Given the description of an element on the screen output the (x, y) to click on. 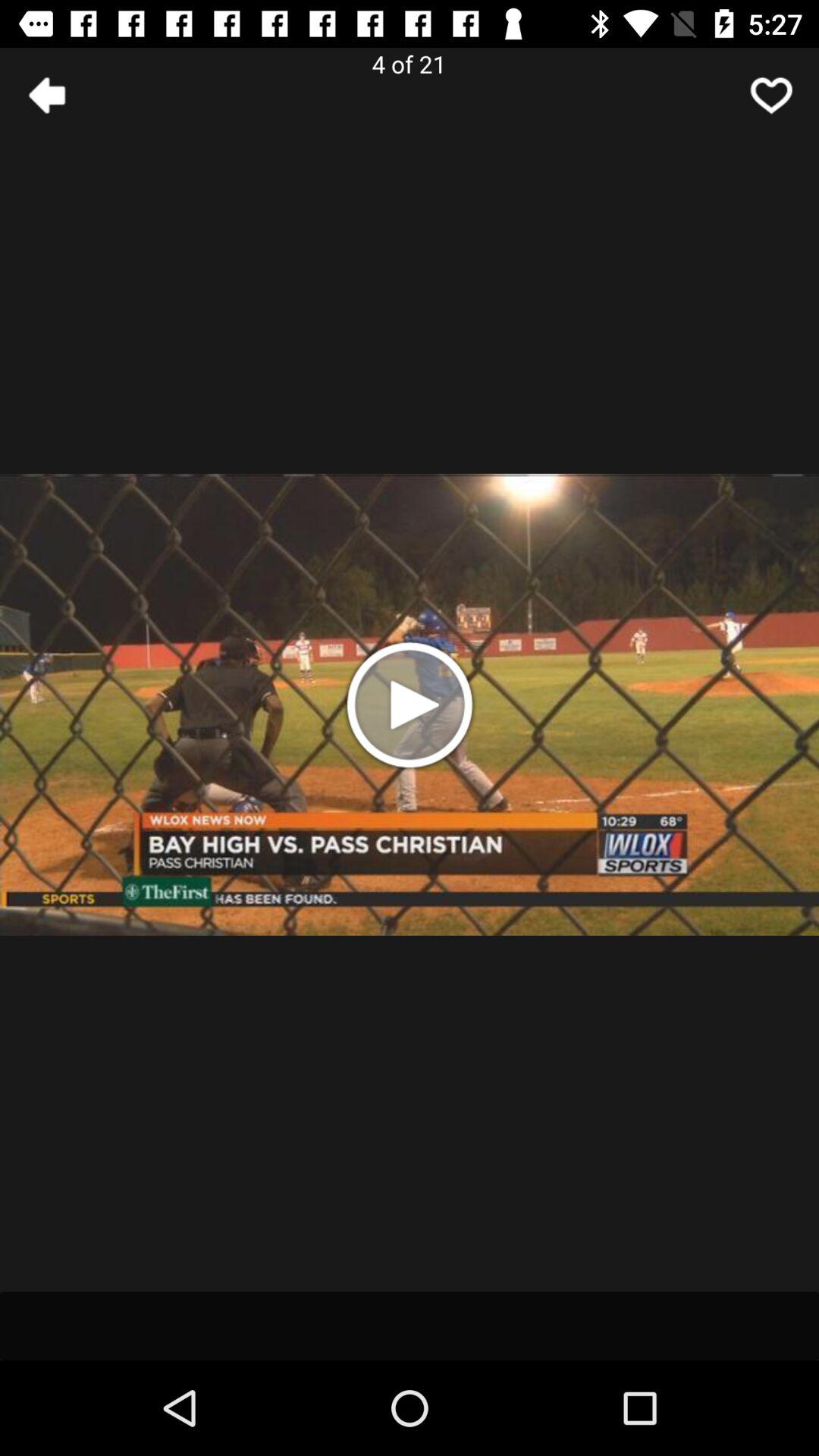
go back (47, 95)
